Given the description of an element on the screen output the (x, y) to click on. 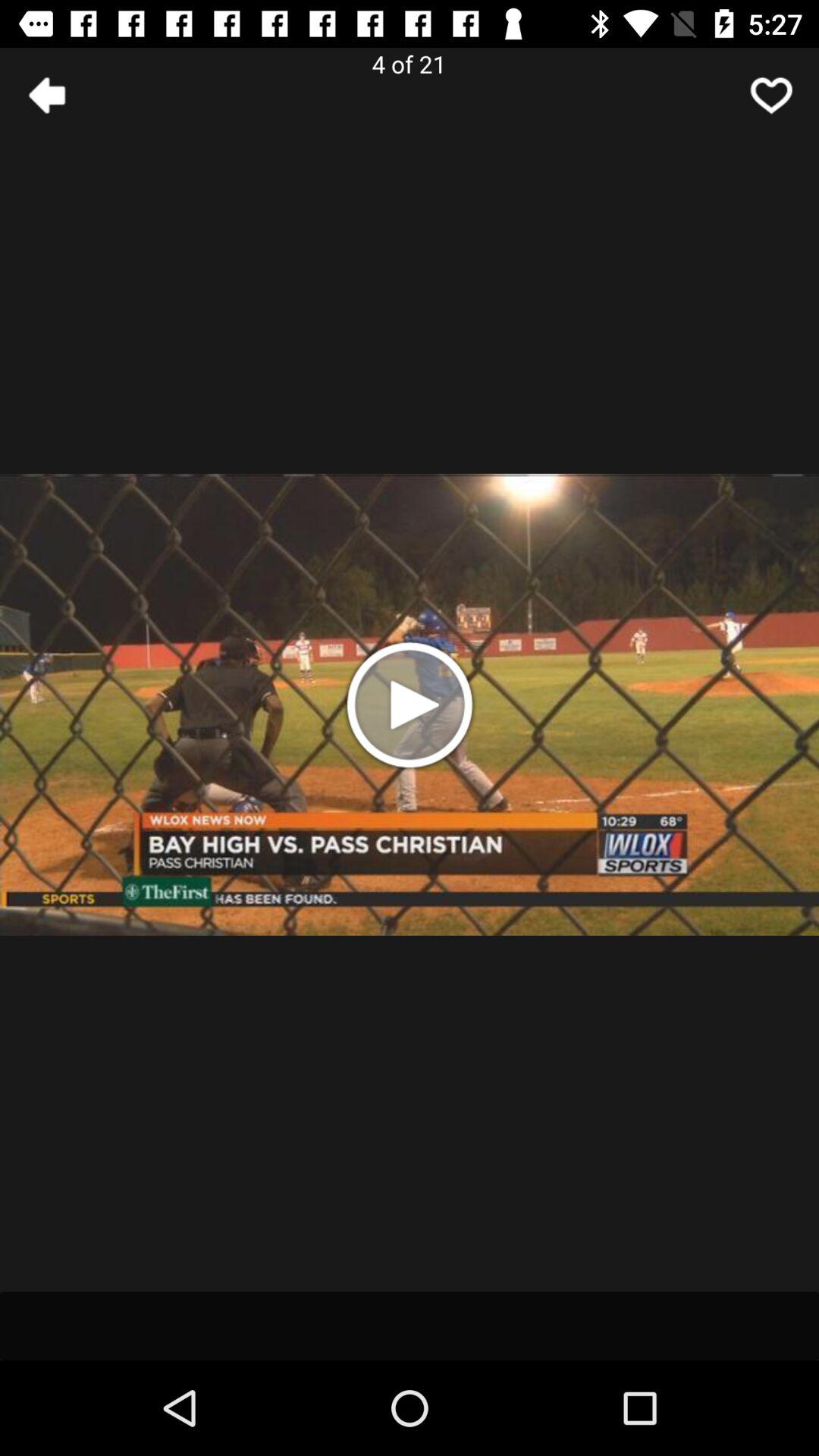
go back (47, 95)
